Given the description of an element on the screen output the (x, y) to click on. 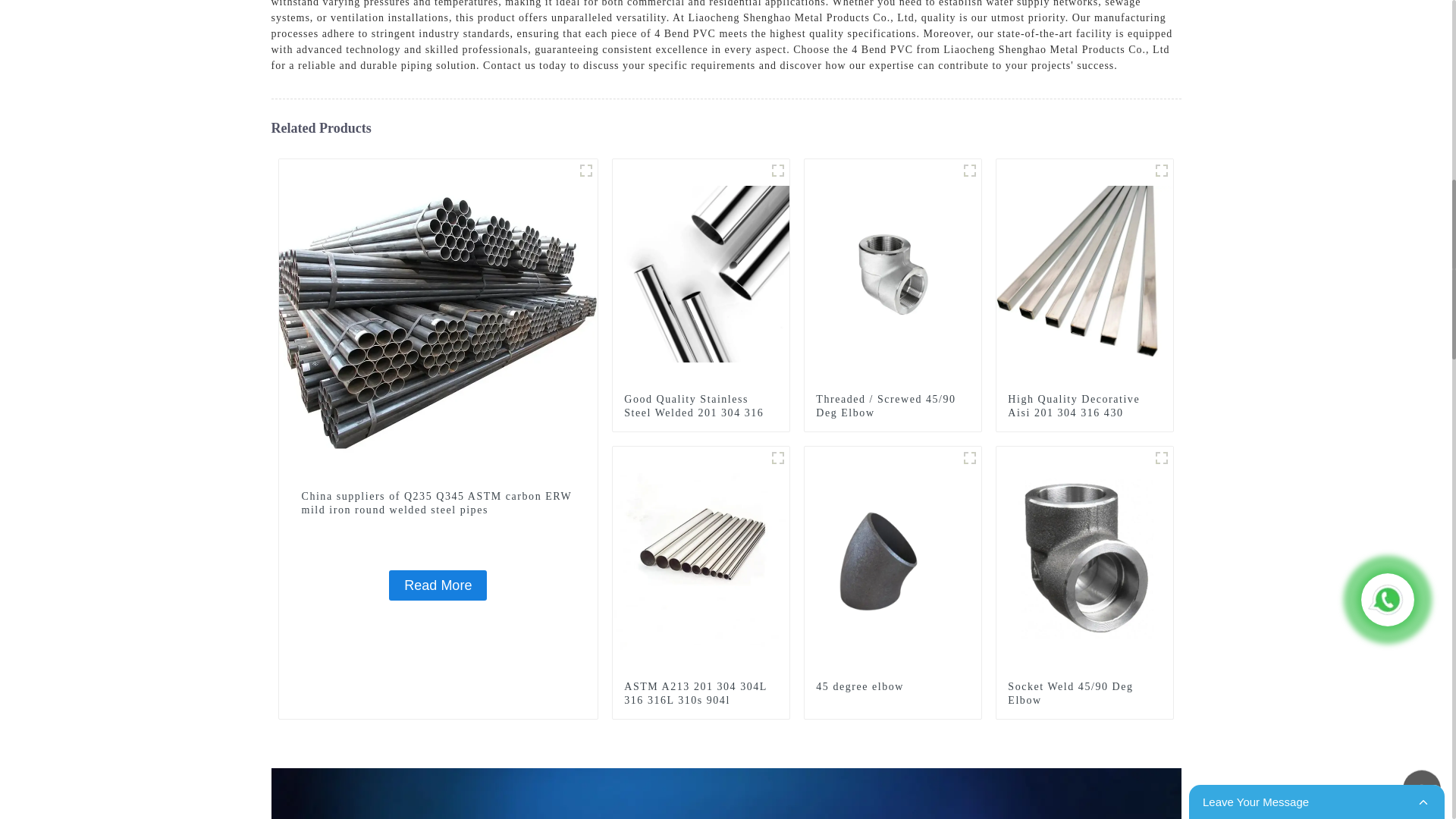
1-removebg-preview (969, 457)
45 degree elbow (892, 686)
45 degree elbow (893, 560)
